Given the description of an element on the screen output the (x, y) to click on. 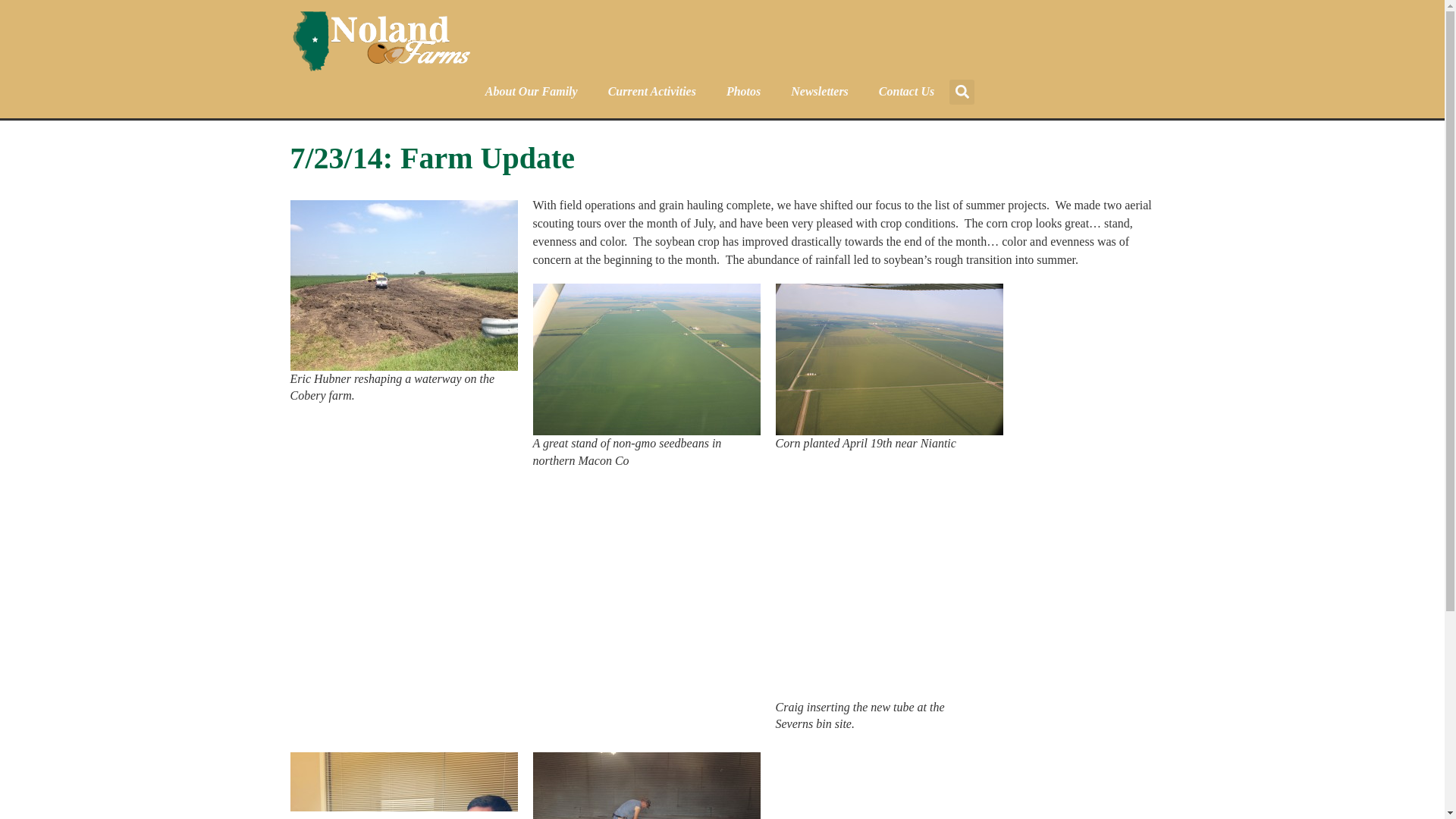
Current Activities (651, 91)
Photos (743, 91)
About Our Family (531, 91)
Contact Us (906, 91)
Newsletters (819, 91)
